Given the description of an element on the screen output the (x, y) to click on. 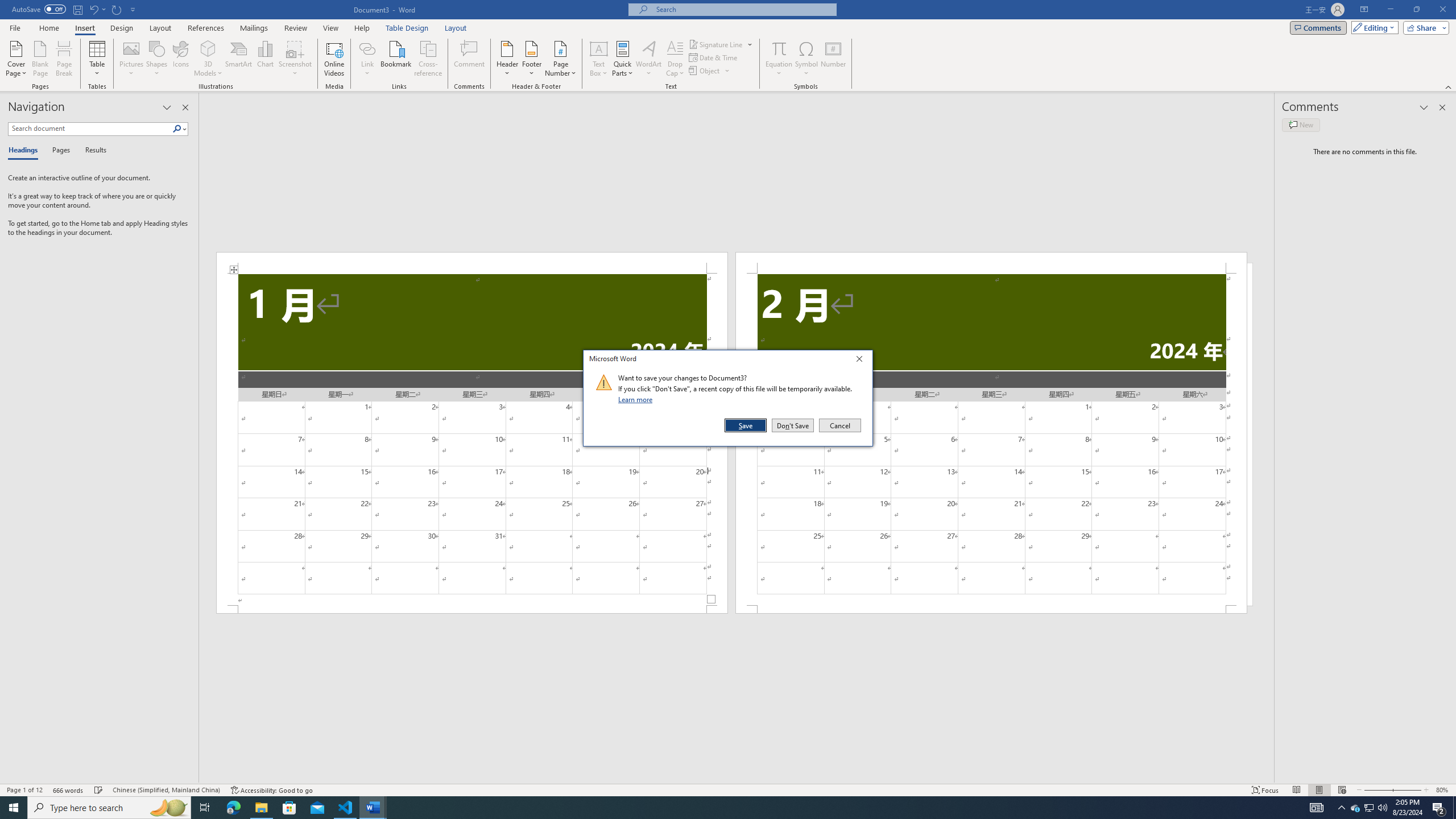
AutomationID: 4105 (1316, 807)
